Given the description of an element on the screen output the (x, y) to click on. 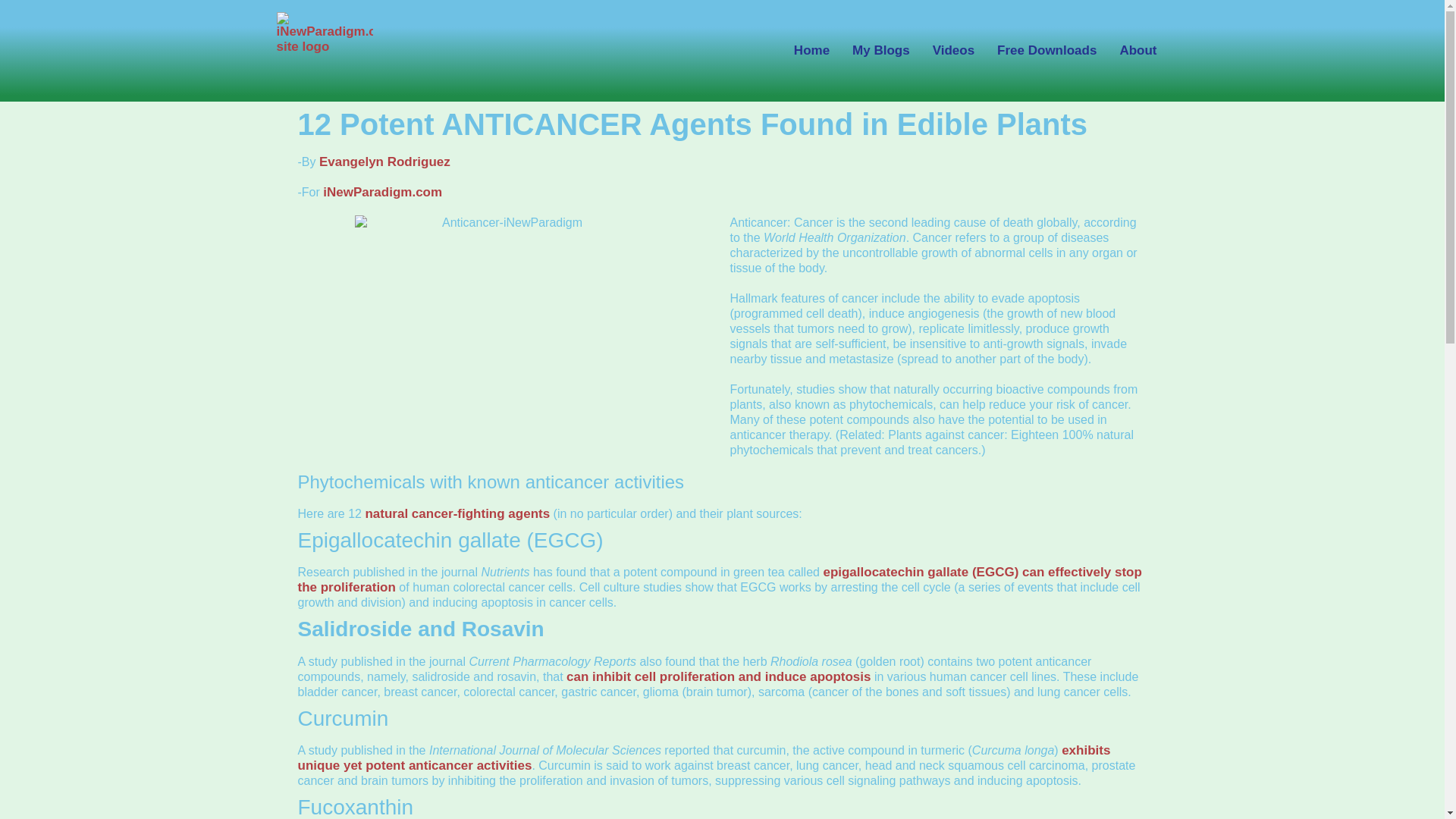
My Blogs (881, 50)
Free Downloads (1046, 50)
natural cancer-fighting agents (457, 513)
Videos (953, 50)
About (1137, 50)
iNewParadigm.com (382, 192)
Evangelyn Rodriguez (383, 161)
can inhibit cell proliferation and induce apoptosis (718, 676)
exhibits unique yet potent anticancer activities (703, 757)
Home (812, 50)
